Given the description of an element on the screen output the (x, y) to click on. 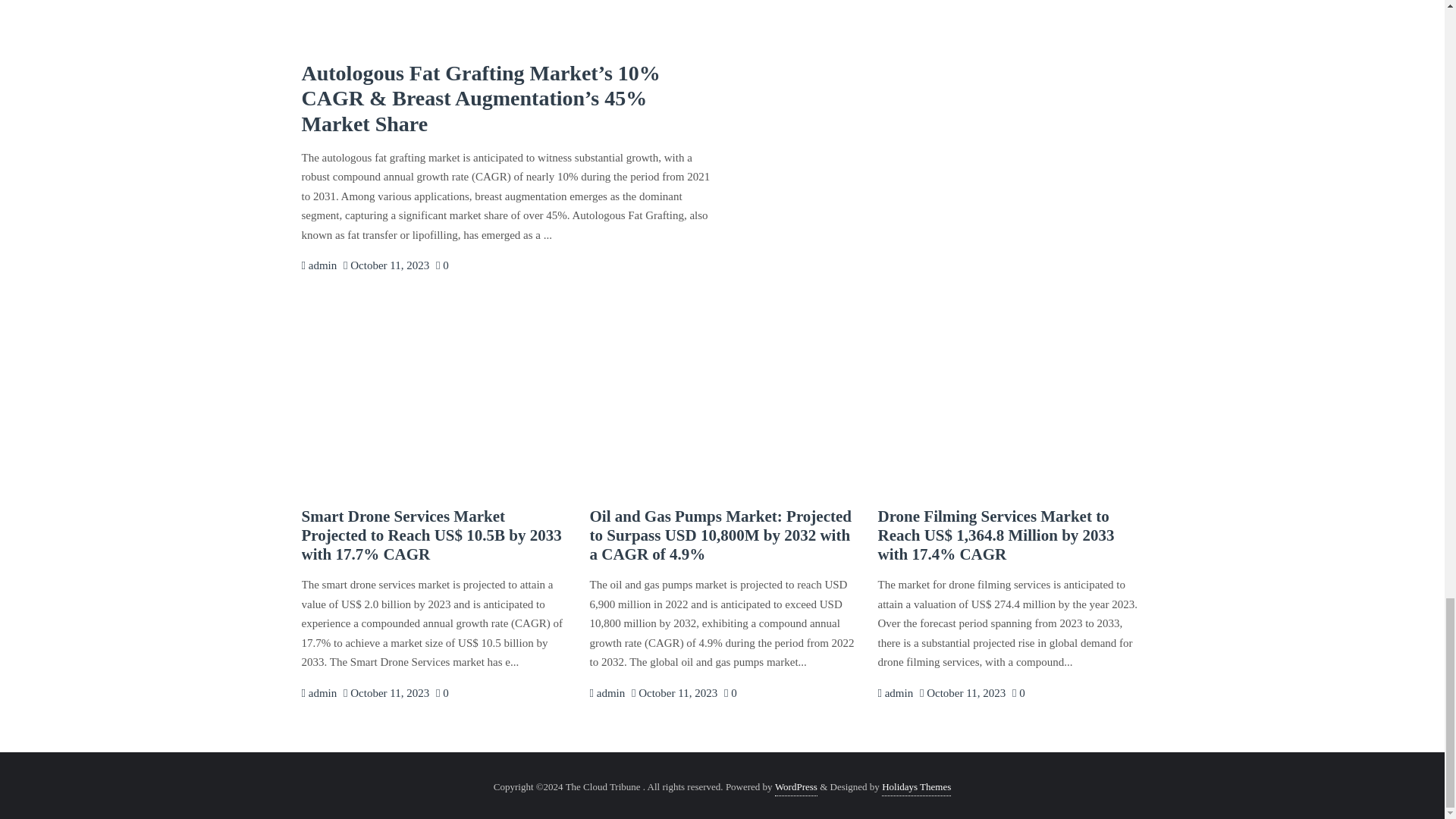
admin (894, 693)
admin (319, 693)
admin (319, 265)
0 (441, 693)
admin (606, 693)
0 (729, 693)
admin (319, 693)
October 11, 2023 (386, 265)
October 11, 2023 (674, 693)
admin (606, 693)
